Given the description of an element on the screen output the (x, y) to click on. 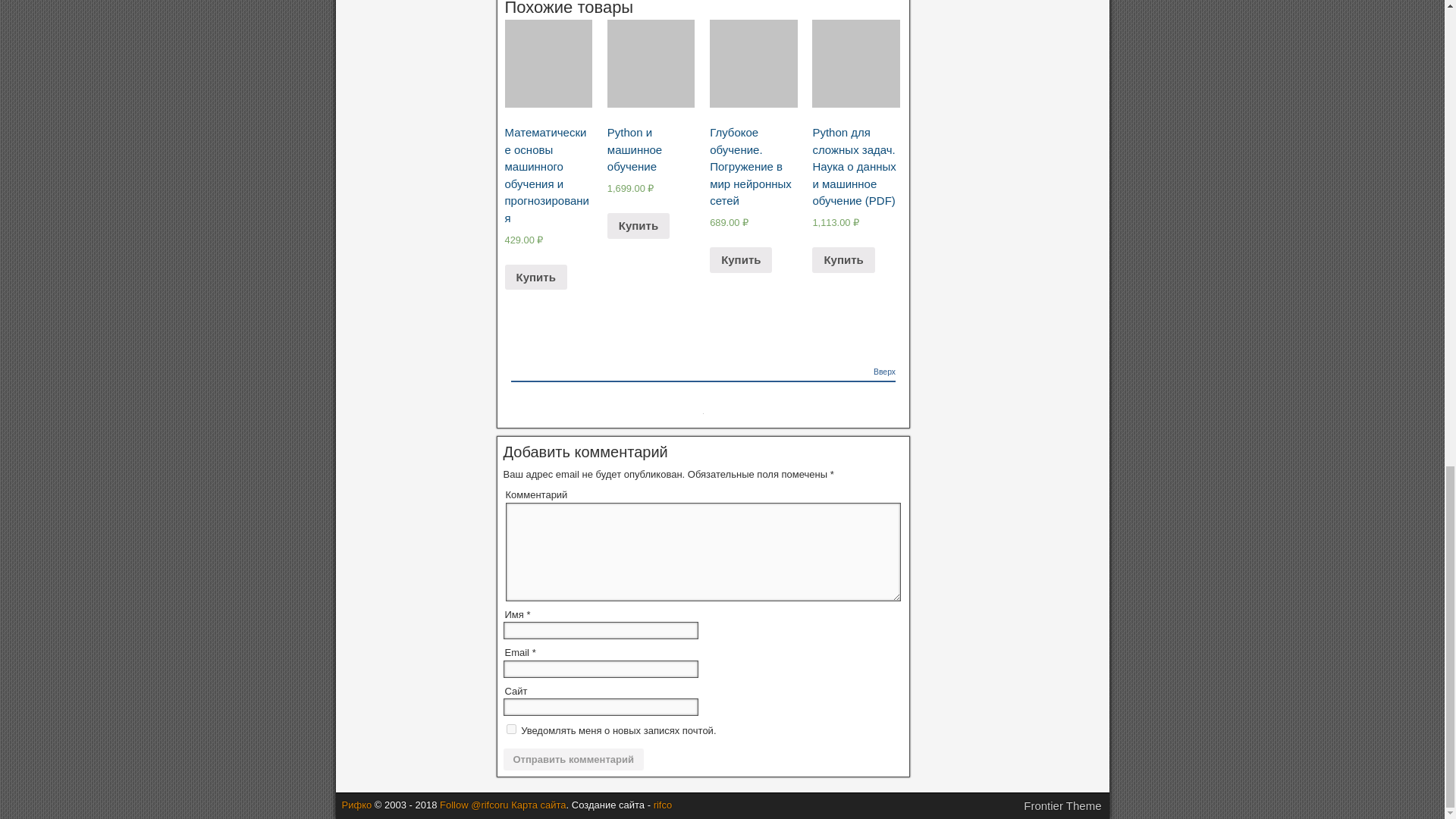
subscribe (511, 728)
